Given the description of an element on the screen output the (x, y) to click on. 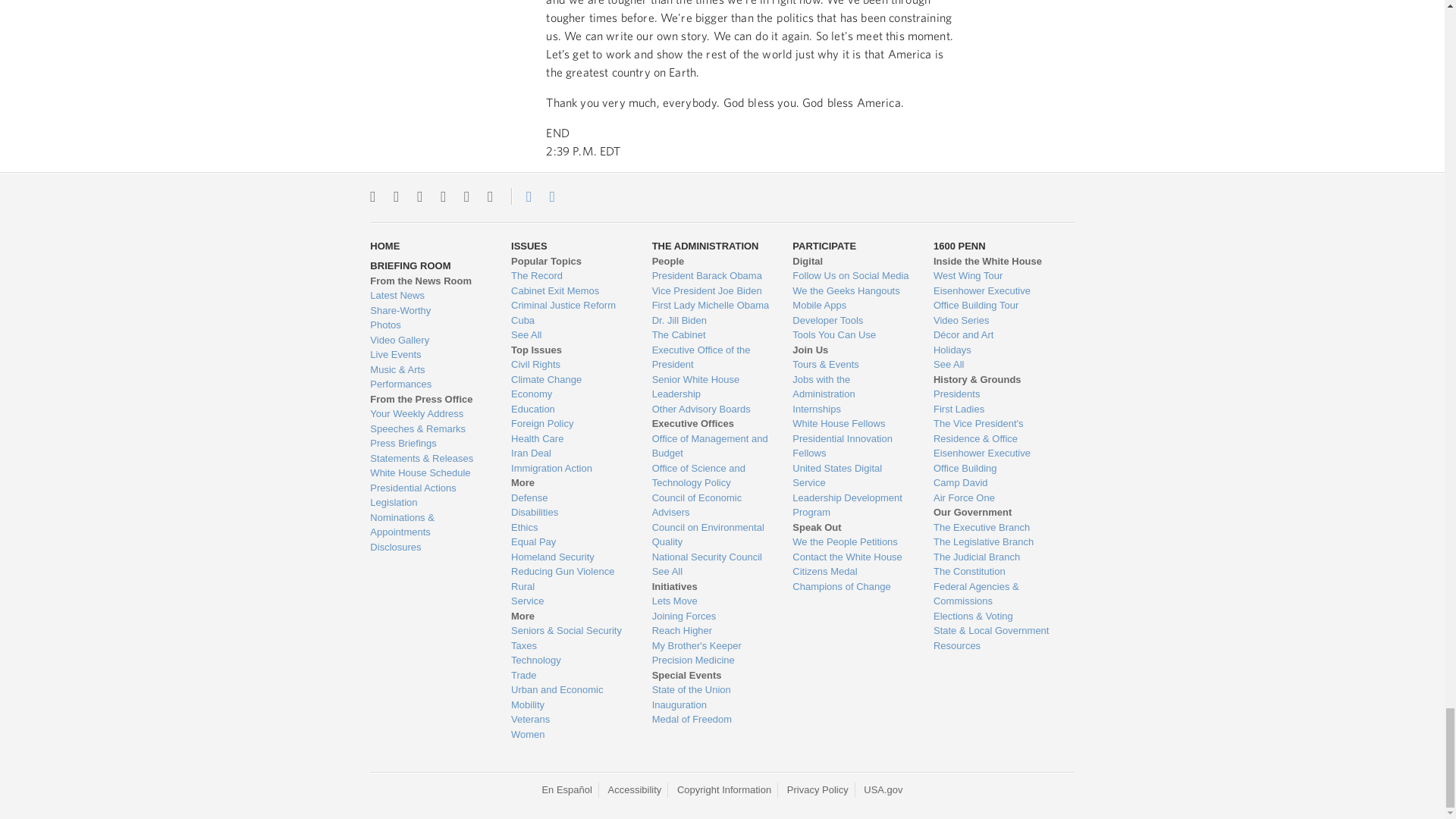
Check out the most popular infographics and videos (428, 310)
Contact the Whitehouse. (521, 196)
View the photo of the day and other galleries (428, 324)
Watch behind-the-scenes videos and more (428, 340)
Read the latest blog posts from 1600 Pennsylvania Ave (428, 295)
